Given the description of an element on the screen output the (x, y) to click on. 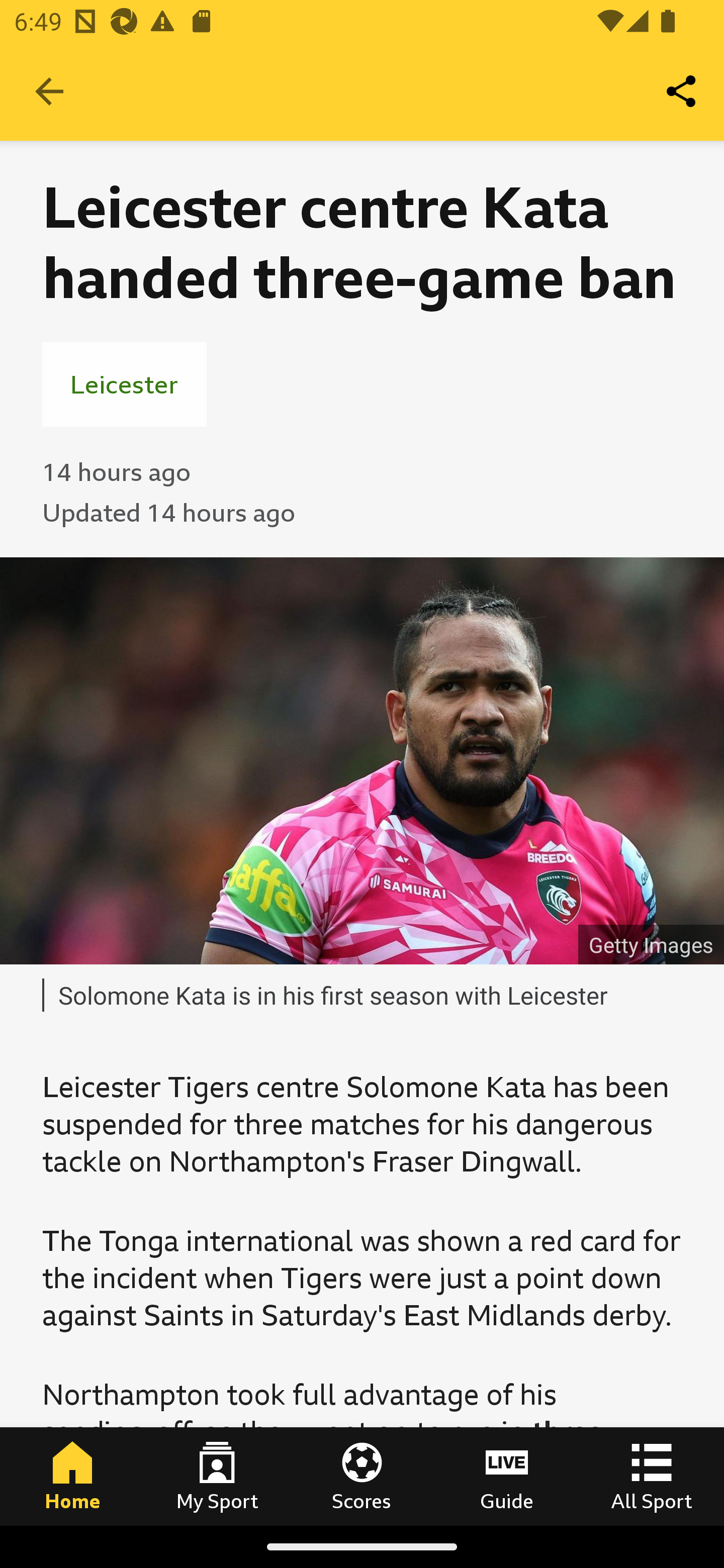
Navigate up (49, 91)
Share (681, 90)
Leicester (123, 383)
My Sport (216, 1475)
Scores (361, 1475)
Guide (506, 1475)
All Sport (651, 1475)
